Given the description of an element on the screen output the (x, y) to click on. 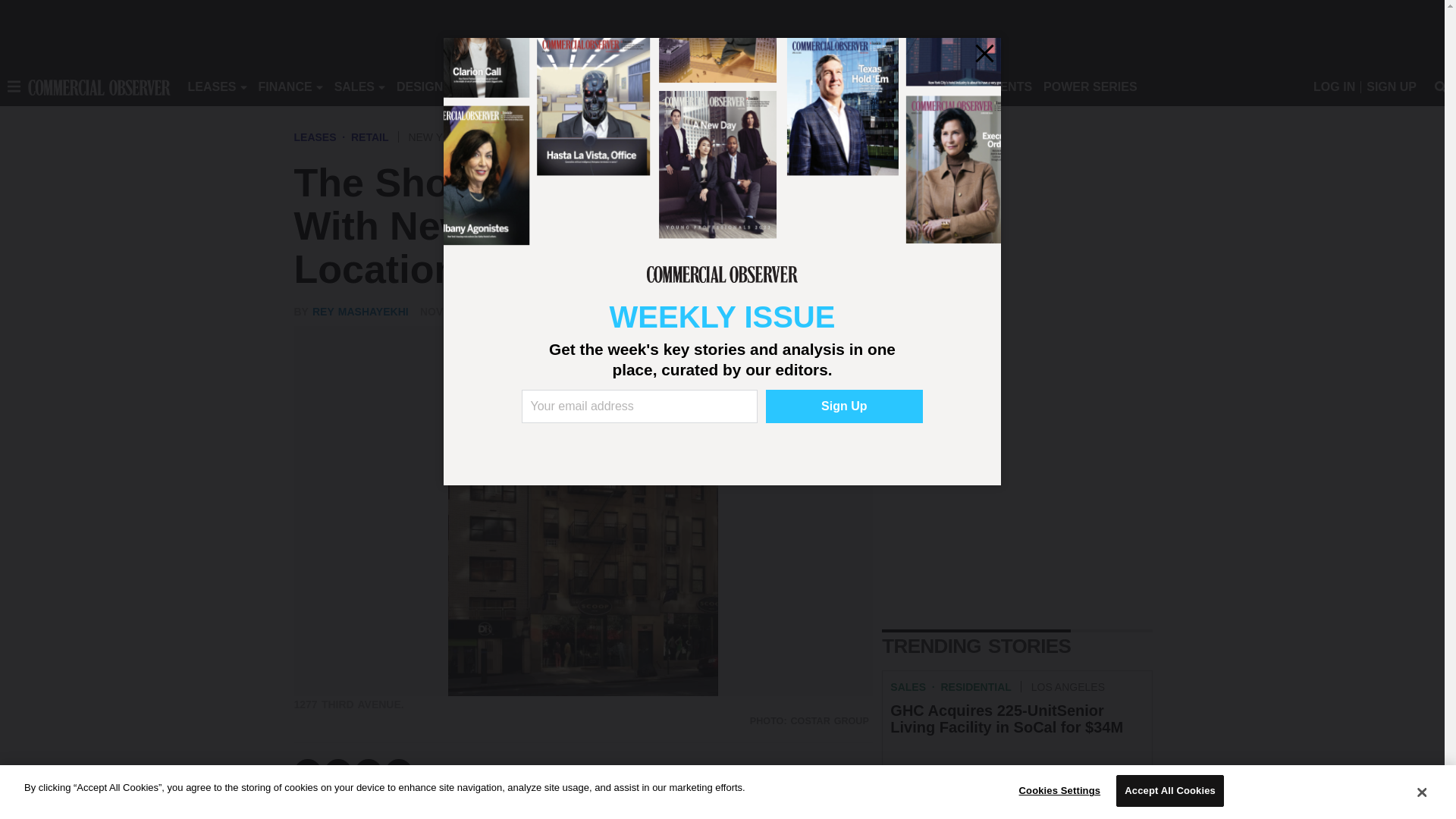
TECHNOLOGY (619, 86)
SALES (354, 86)
FINANCE (286, 86)
Tweet (338, 772)
LEASES (211, 86)
Share on Facebook (307, 772)
MORE (691, 86)
Commercial Observer Home (98, 86)
Posts by Rey Mashayekhi (361, 311)
Share on LinkedIn (368, 772)
Send email (398, 772)
